Given the description of an element on the screen output the (x, y) to click on. 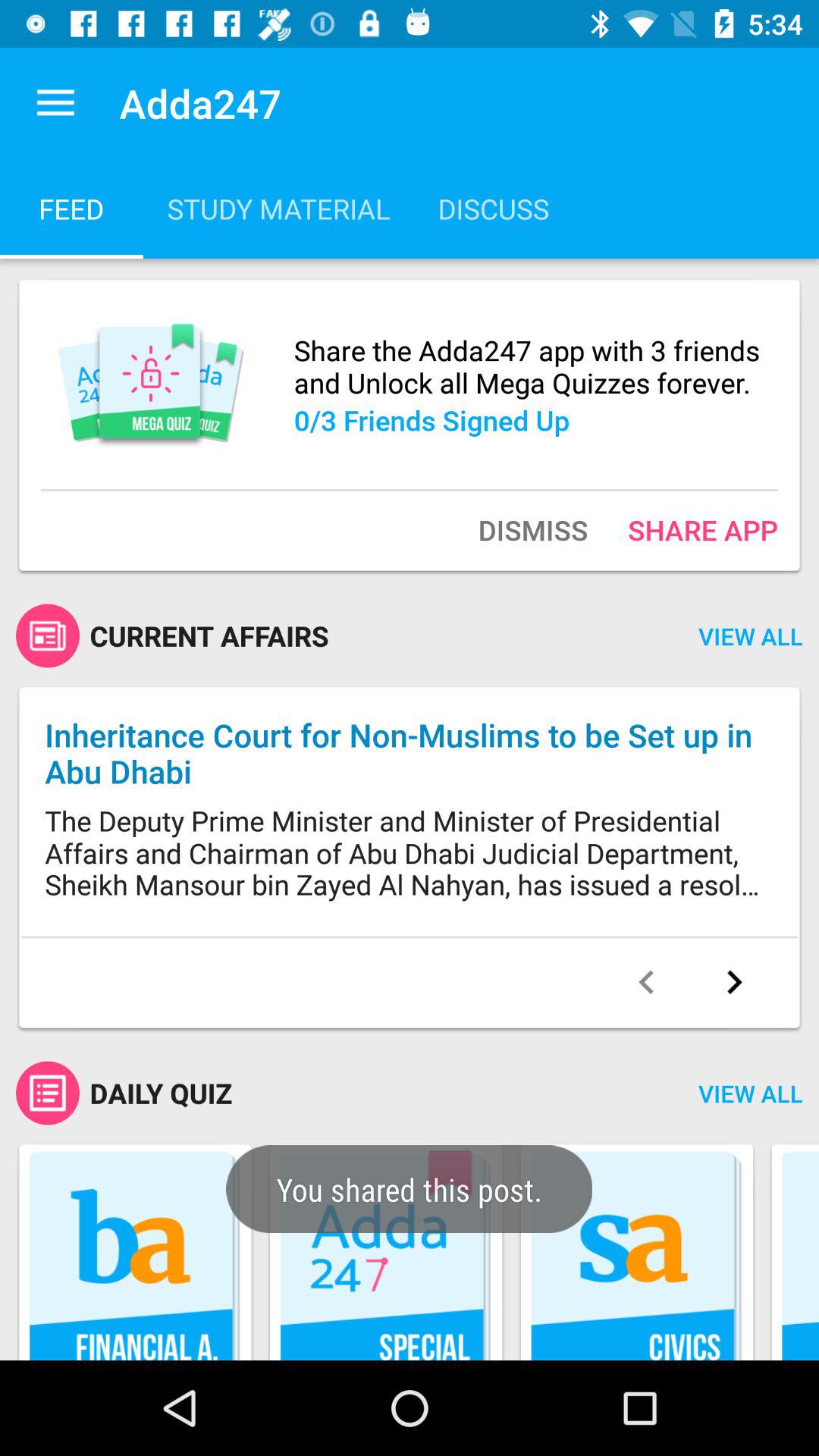
forward (734, 982)
